Given the description of an element on the screen output the (x, y) to click on. 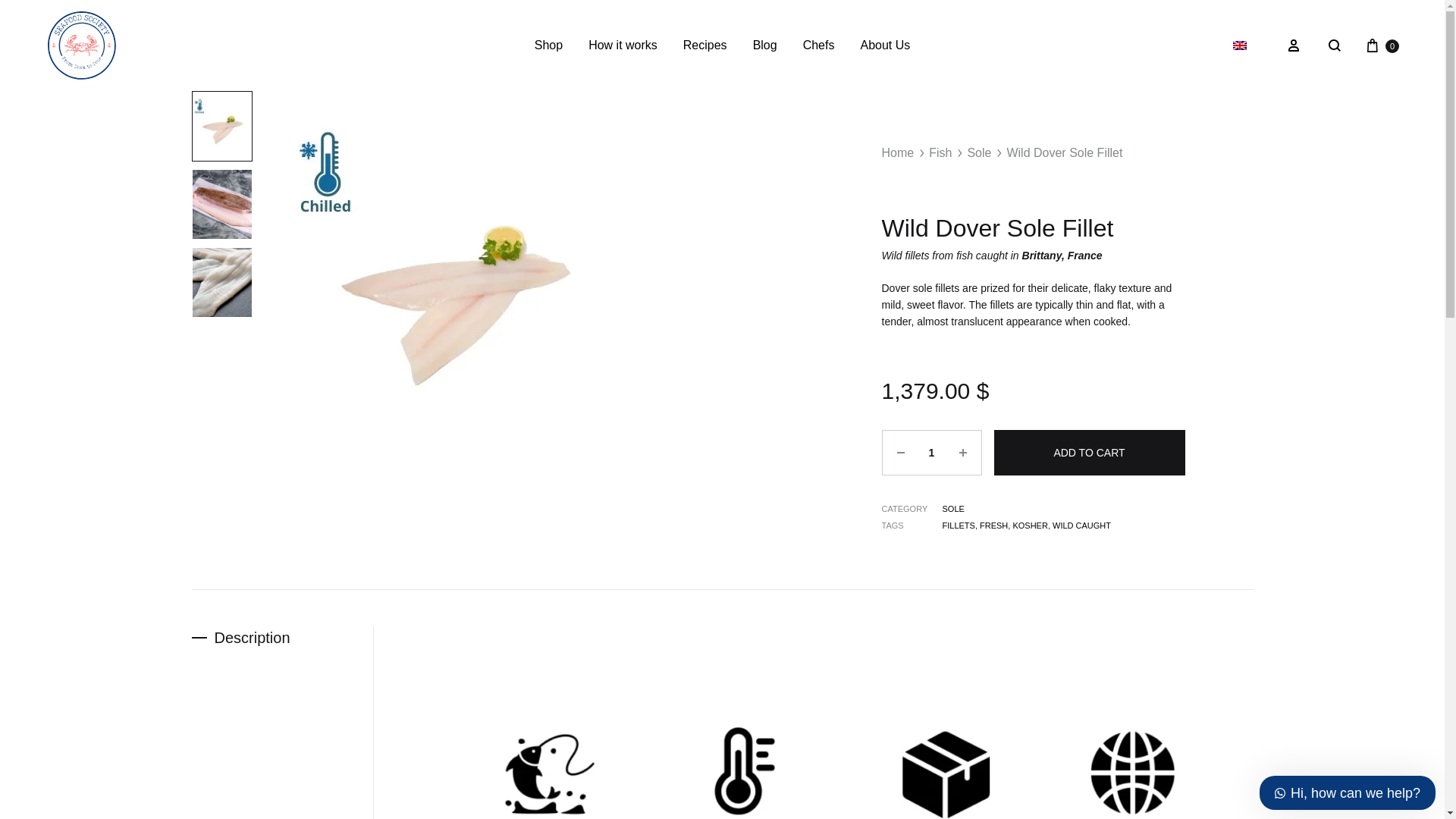
How it works (623, 45)
Shop (548, 45)
Recipes (704, 45)
